Given the description of an element on the screen output the (x, y) to click on. 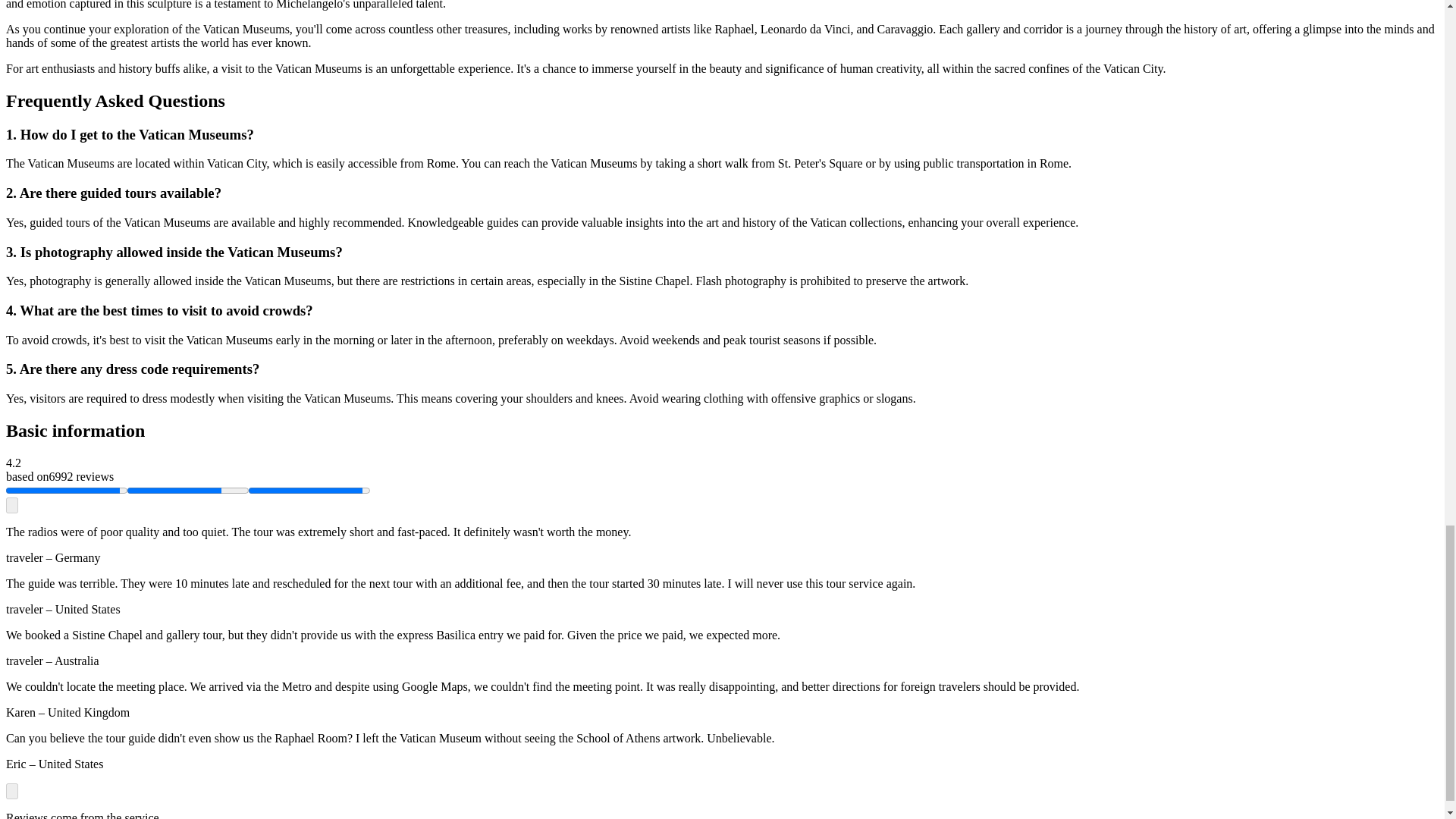
Service (308, 490)
Guide (66, 490)
Value for money (188, 490)
